Given the description of an element on the screen output the (x, y) to click on. 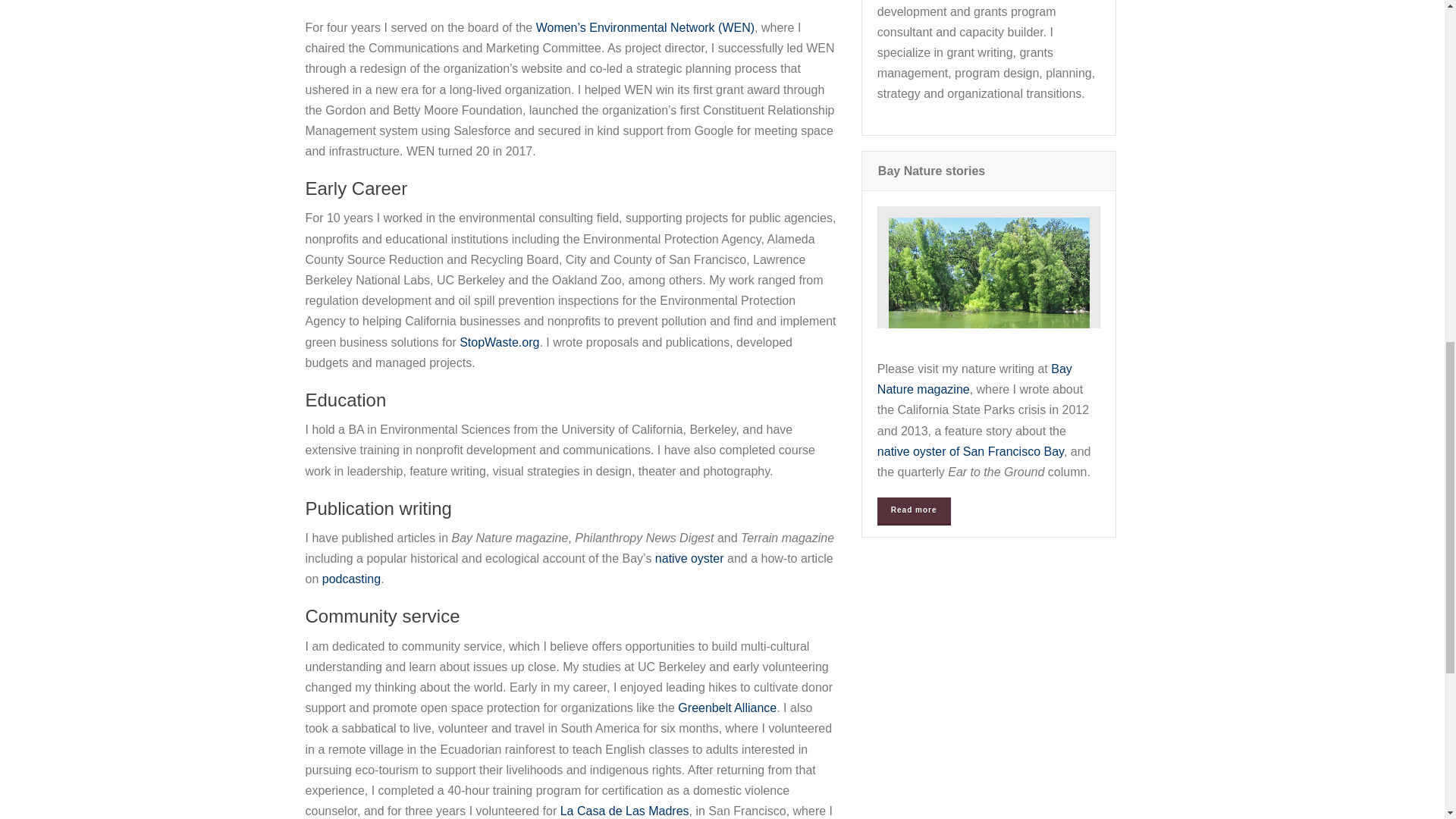
La Casa de Las Madres (624, 810)
StopWaste.org (499, 341)
Bay Nature magazine (974, 378)
Greenbelt Alliance (727, 707)
native oyster (689, 558)
Read more (913, 510)
podcasting (350, 578)
native oyster of San Francisco Bay (970, 451)
Read more (913, 510)
